Given the description of an element on the screen output the (x, y) to click on. 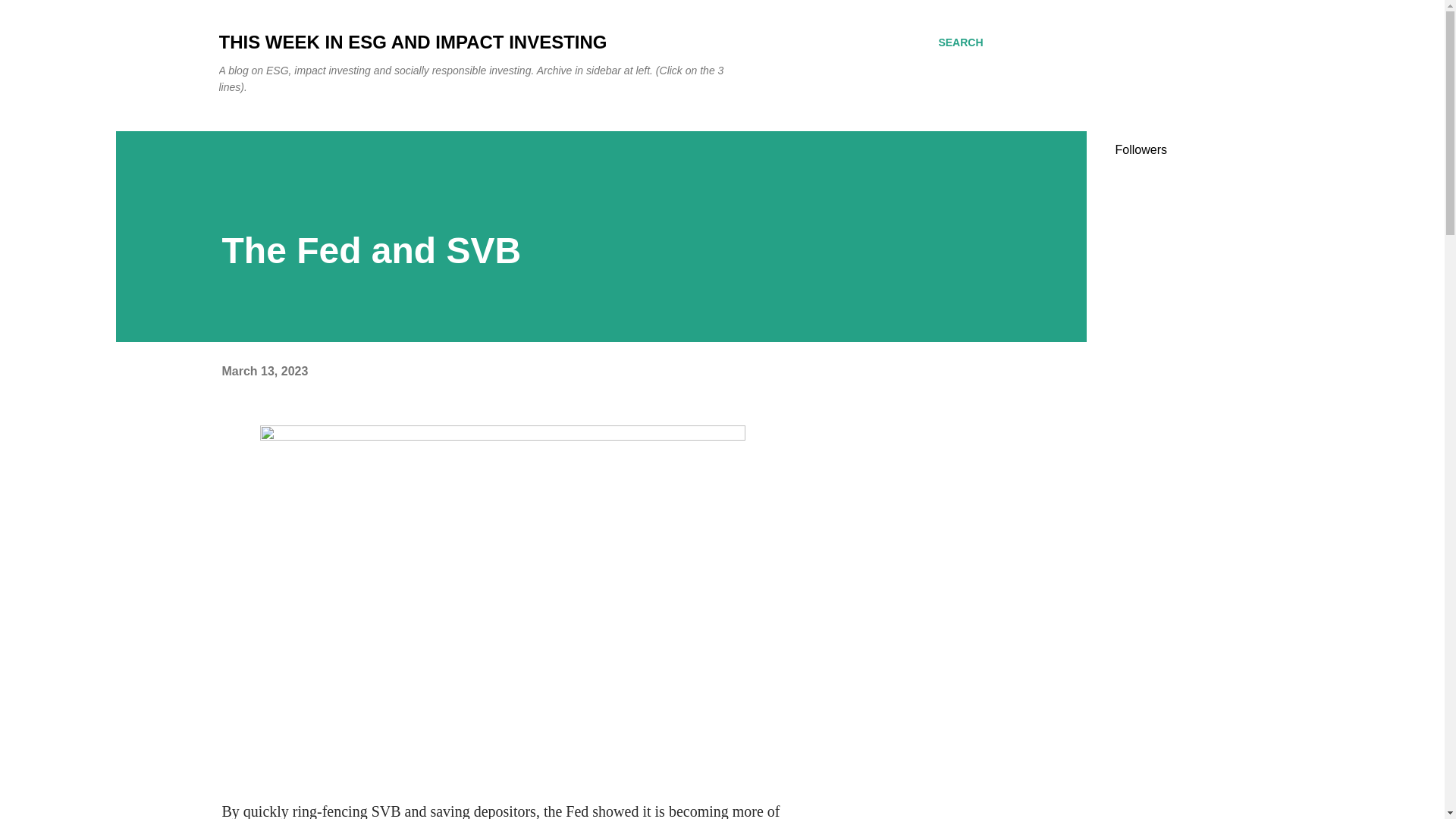
March 13, 2023 (264, 370)
permanent link (264, 370)
THIS WEEK IN ESG AND IMPACT INVESTING (412, 41)
SEARCH (959, 42)
